Given the description of an element on the screen output the (x, y) to click on. 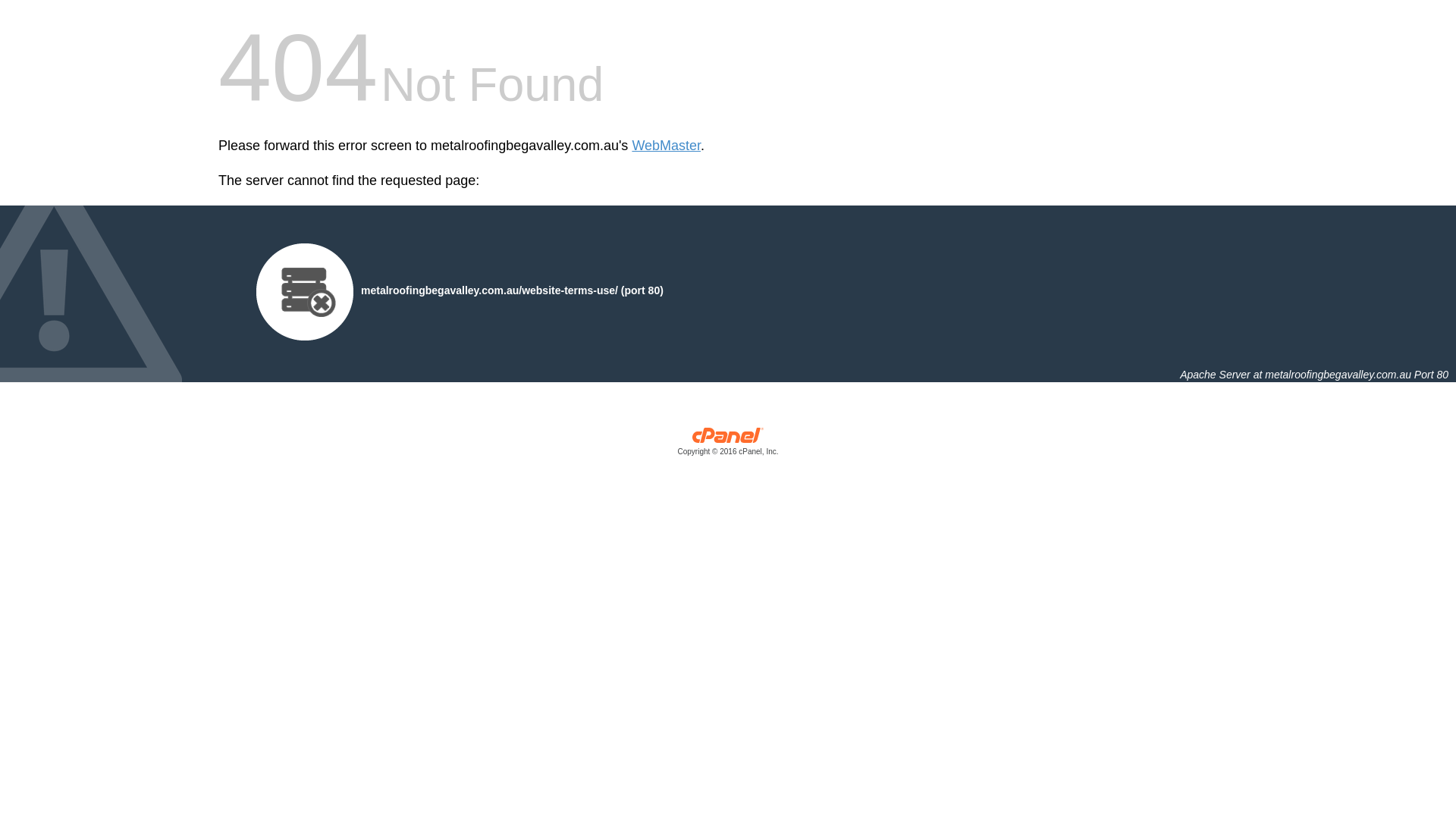
WebMaster Element type: text (665, 145)
